Given the description of an element on the screen output the (x, y) to click on. 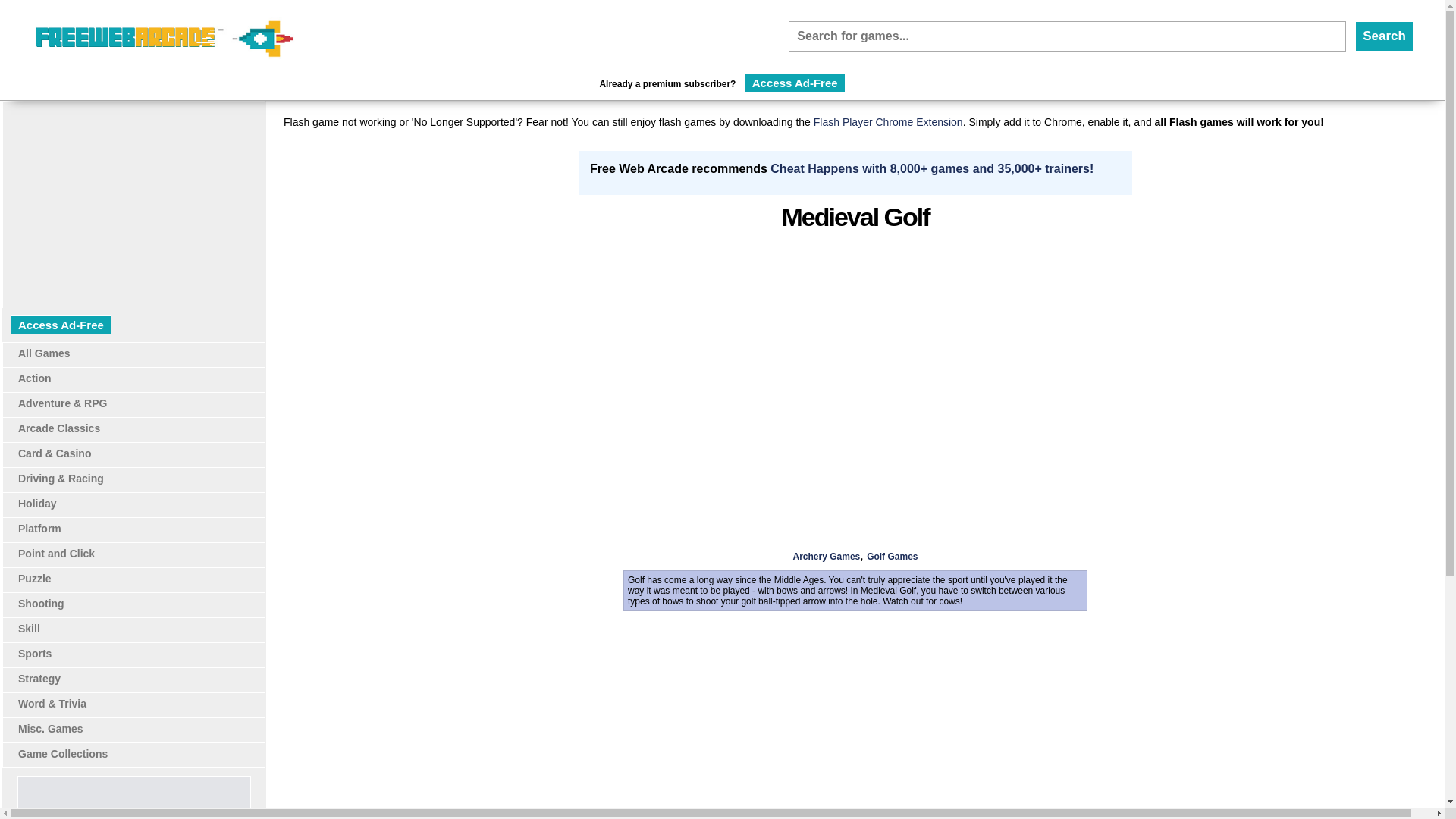
Search (1384, 36)
Archery Games (826, 556)
Skill (28, 628)
Point and Click (55, 553)
Action (33, 378)
Strategy (39, 678)
Access Ad-Free (794, 82)
Platform (39, 528)
Puzzle (33, 578)
Flash Player Chrome Extension (887, 121)
